Given the description of an element on the screen output the (x, y) to click on. 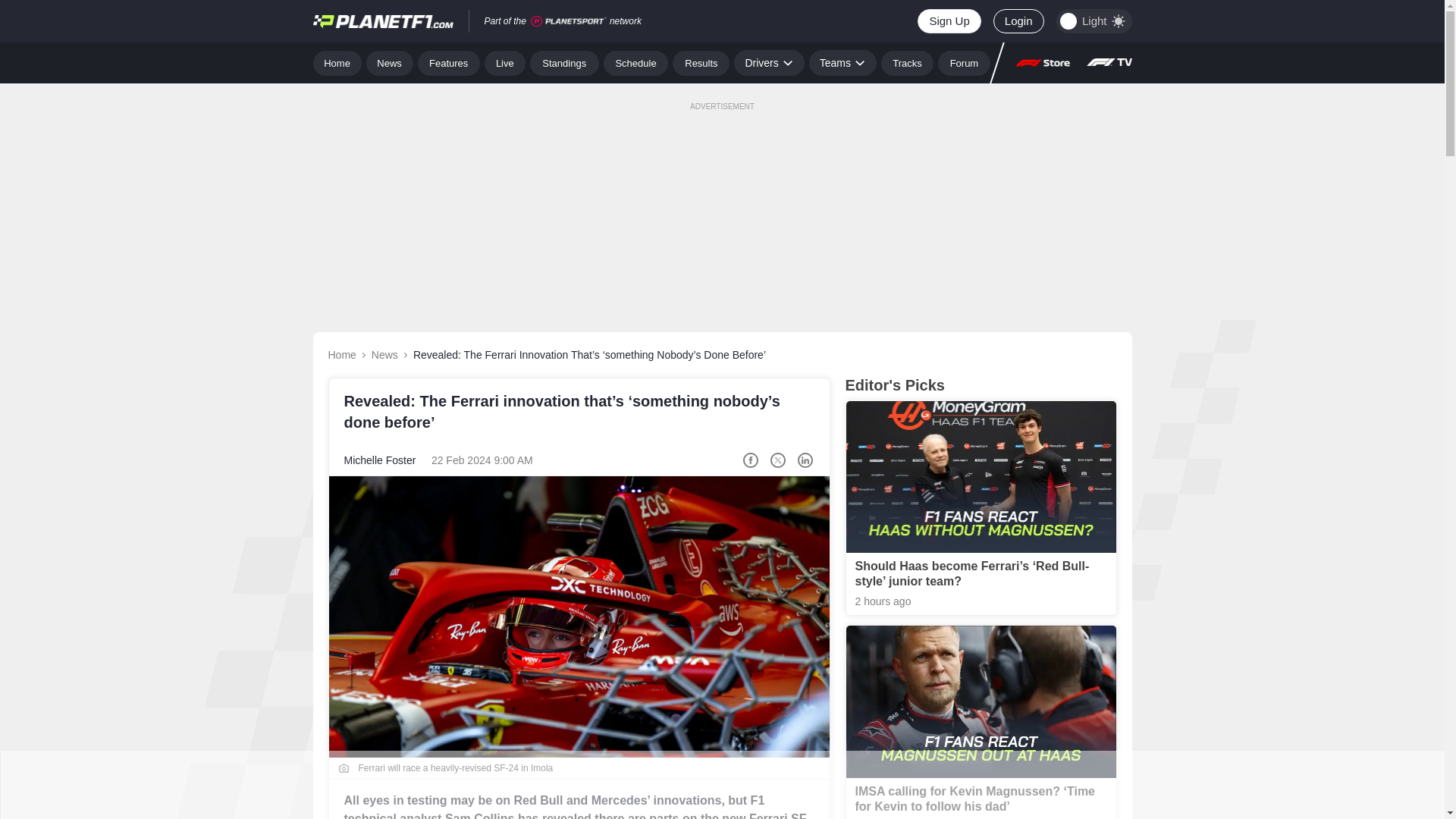
Features (448, 62)
Schedule (636, 62)
Live (504, 62)
Drivers (768, 62)
Teams (842, 62)
Standings (563, 62)
Sign Up (948, 21)
Login (1017, 21)
News (389, 62)
Results (700, 62)
Home (337, 62)
3rd party ad content (721, 785)
